Given the description of an element on the screen output the (x, y) to click on. 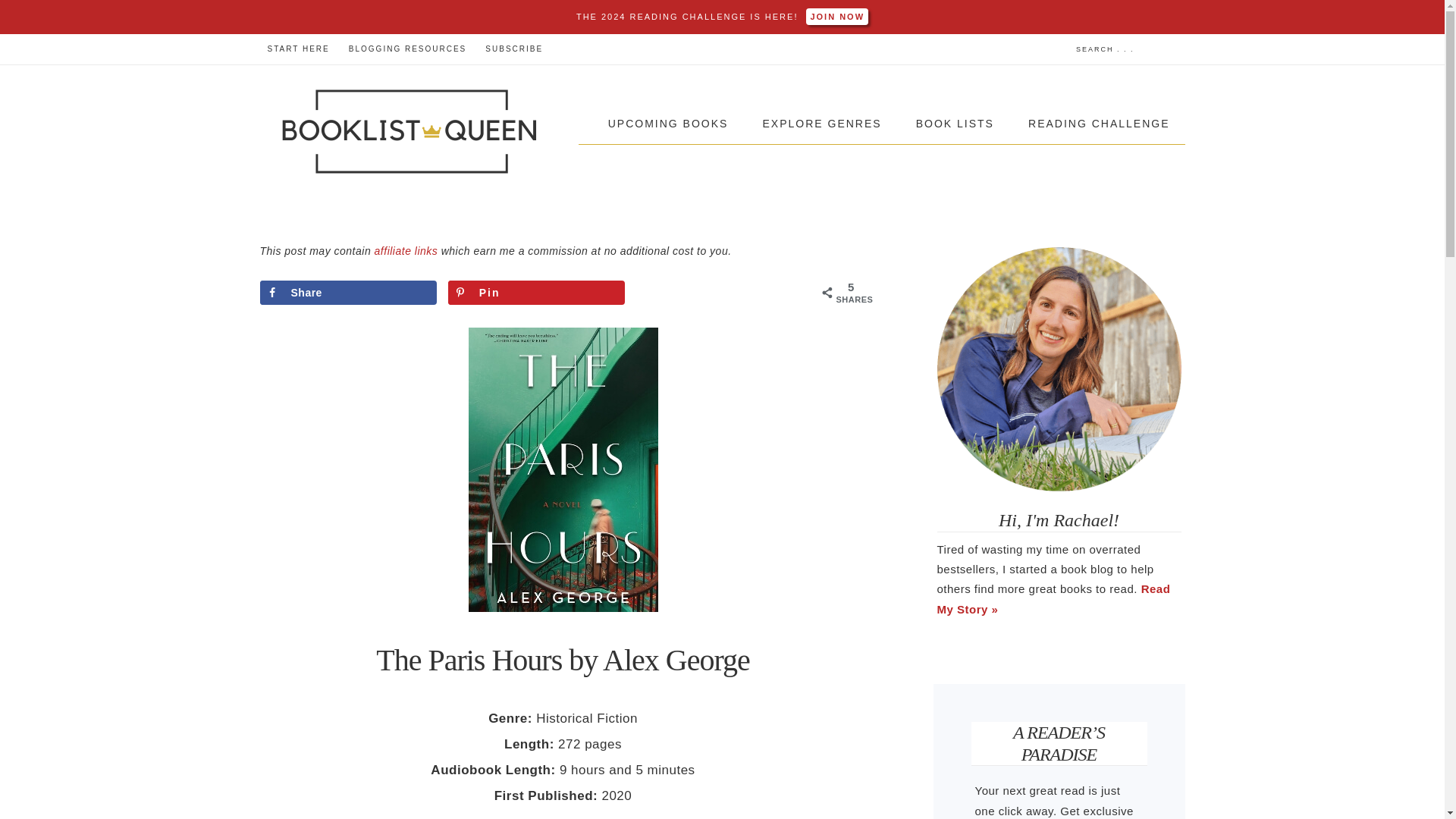
UPCOMING BOOKS (668, 123)
Share on X (724, 292)
SUBSCRIBE (513, 49)
affiliate links (406, 250)
BOOKLIST QUEEN (410, 131)
READING CHALLENGE (1099, 123)
START HERE (297, 49)
Share on Facebook (347, 292)
Share (347, 292)
JOIN NOW (832, 16)
BOOK LISTS (955, 123)
Pin (537, 292)
